Given the description of an element on the screen output the (x, y) to click on. 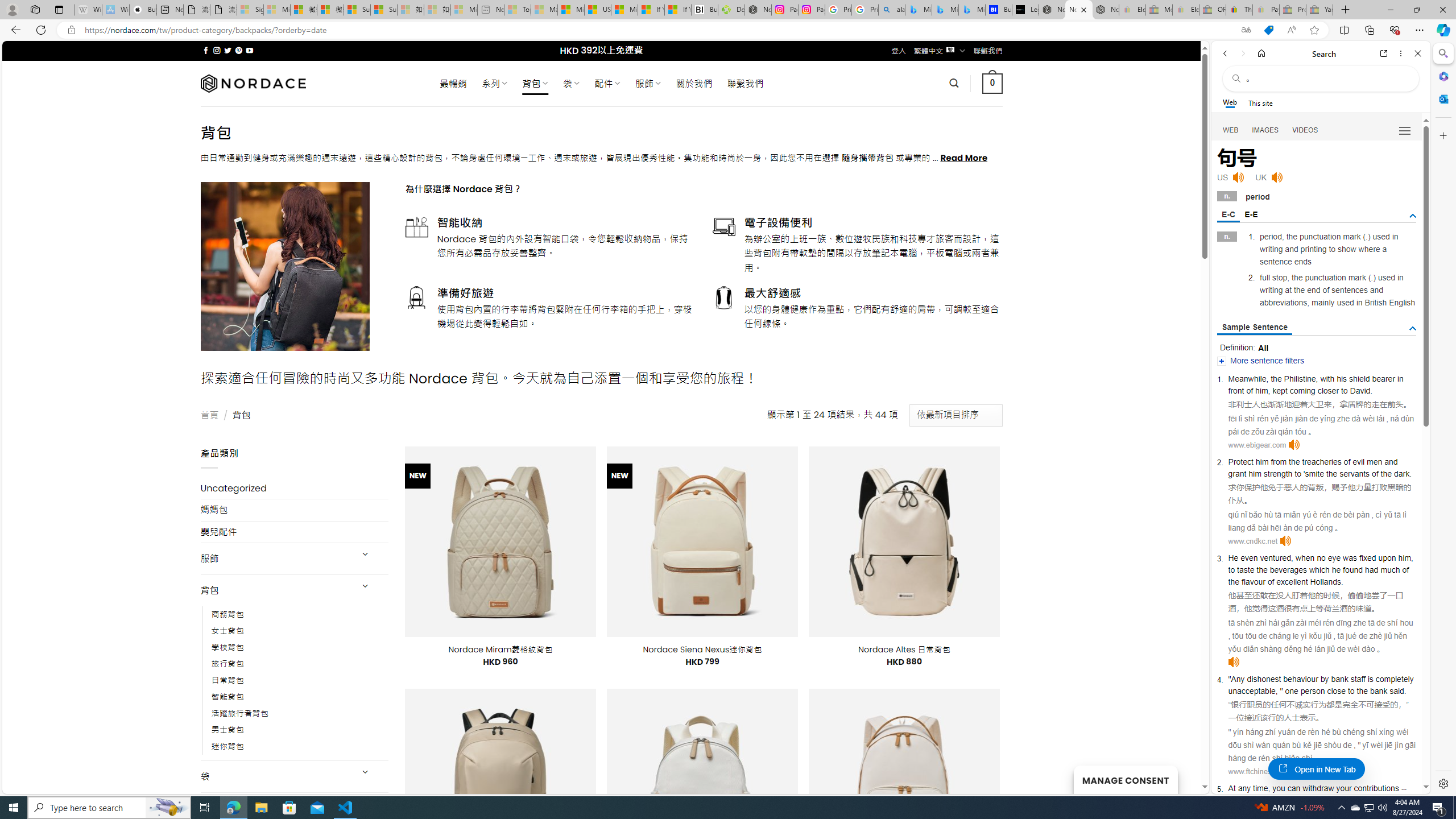
the (1362, 690)
Microsoft Bing Travel - Shangri-La Hotel Bangkok (971, 9)
Uncategorized (294, 488)
and (1390, 461)
dishonest (1263, 678)
